Given the description of an element on the screen output the (x, y) to click on. 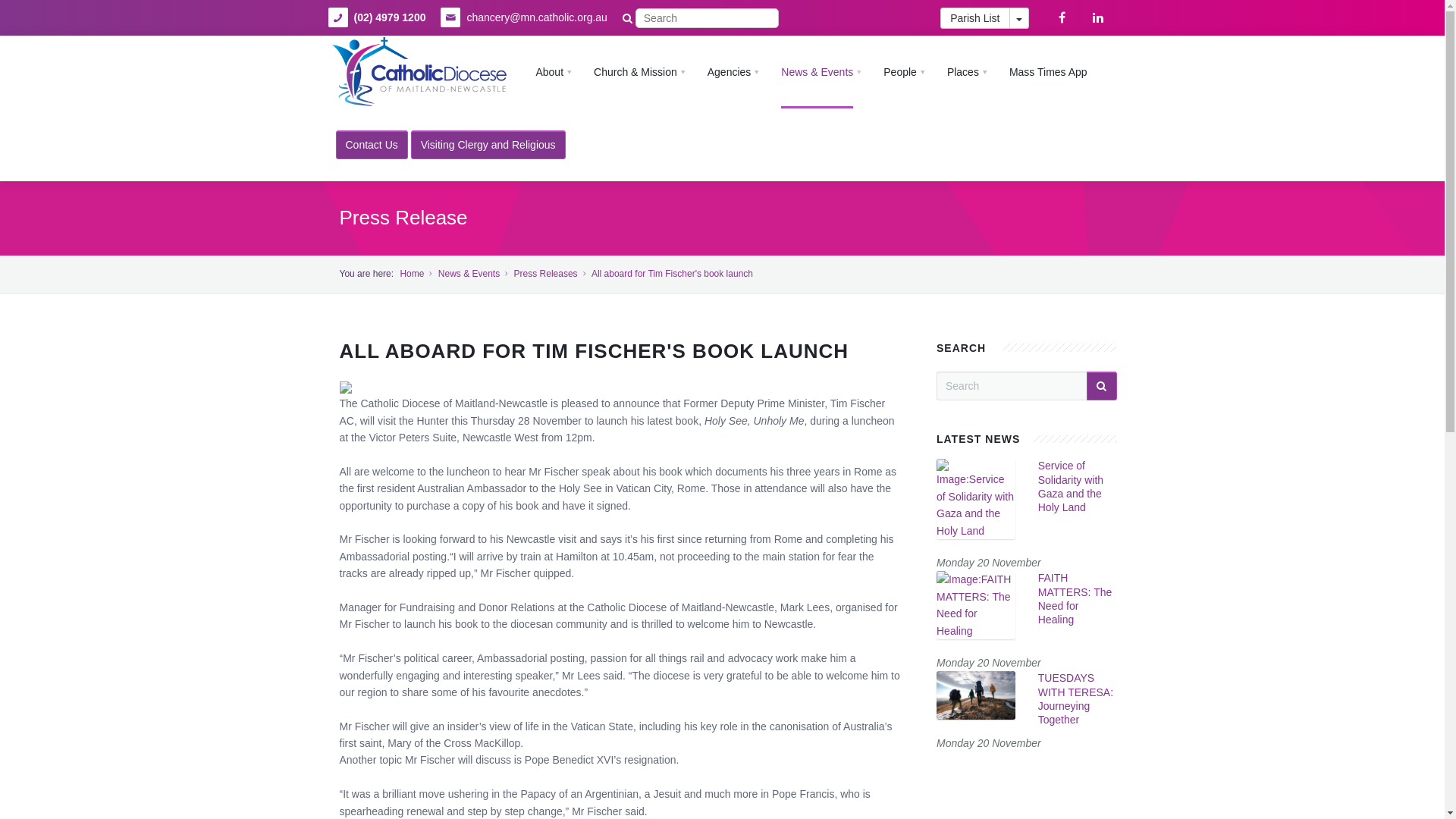
FAITH MATTERS: The Need for Healing Element type: hover (975, 604)
TUESDAYS WITH TERESA: Journeying Together Element type: text (1075, 698)
Service of Solidarity with Gaza and the Holy Land Element type: hover (975, 498)
Contact Us Element type: text (371, 144)
Church & Mission Element type: text (639, 71)
Catholic Diocese of Maitland-Newcastle Element type: hover (417, 71)
All aboard for Tim Fischer's book launch Element type: text (672, 273)
TUESDAYS WITH TERESA: Journeying Together Element type: hover (975, 694)
(02) 4979 1200 Element type: text (389, 17)
FAITH MATTERS: The Need for Healing Element type: text (1075, 598)
News & Events Element type: text (820, 71)
Toggle Dropdown Element type: text (1018, 17)
About Element type: text (553, 71)
chancery@mn.catholic.org.au Element type: text (536, 17)
Search Element type: text (37, 12)
Agencies Element type: text (733, 71)
Mass Times App Element type: text (1047, 71)
Parish List Element type: text (974, 17)
Places Element type: text (966, 71)
Service of Solidarity with Gaza and the Holy Land Element type: text (1070, 486)
People Element type: text (903, 71)
Press Releases Element type: text (545, 273)
Home Element type: text (411, 273)
Visiting Clergy and Religious Element type: text (488, 144)
News & Events Element type: text (468, 273)
